Given the description of an element on the screen output the (x, y) to click on. 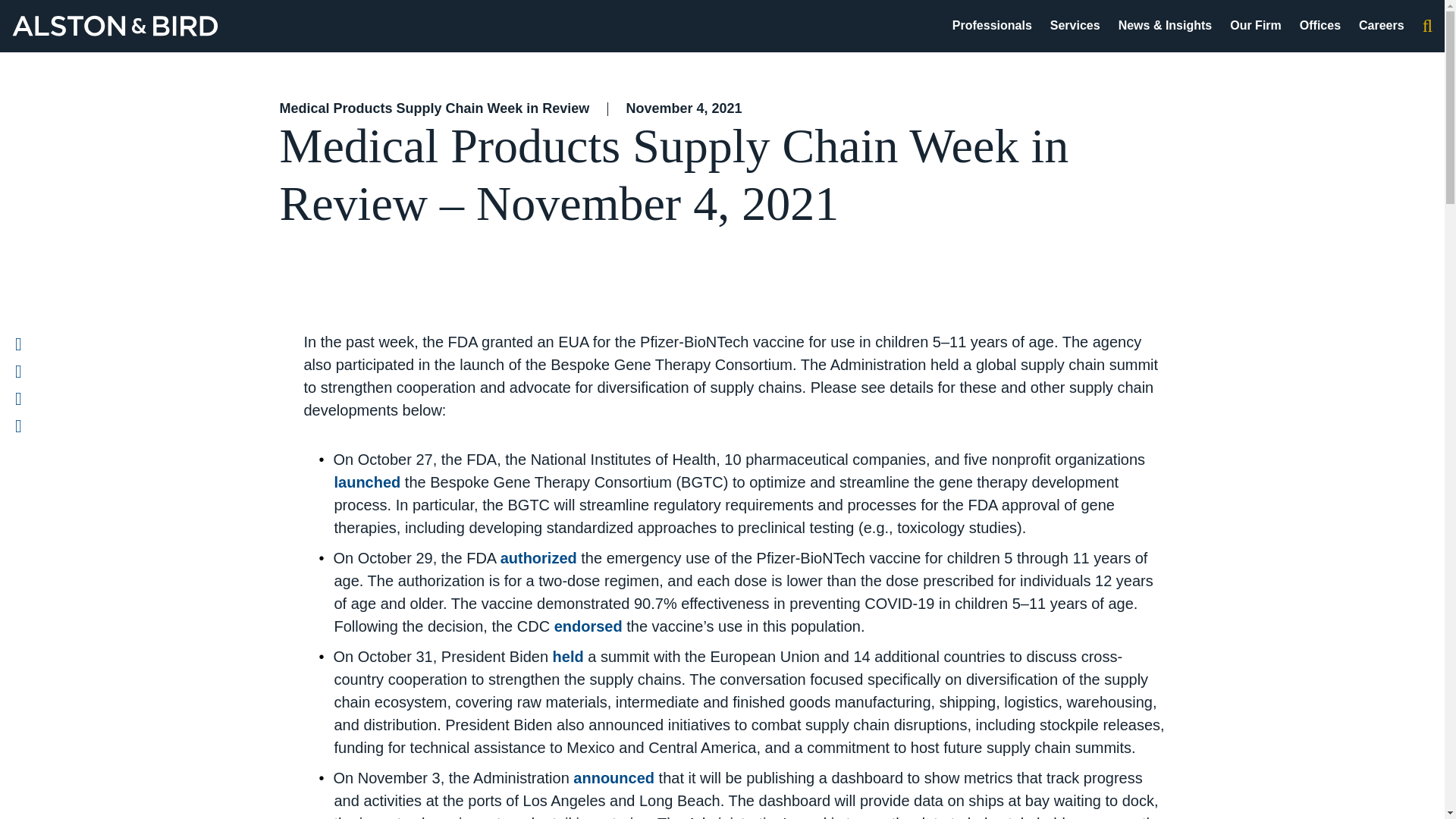
announced (613, 777)
held (568, 656)
launched (366, 482)
endorsed (588, 626)
authorized (538, 557)
Services (1074, 24)
Professionals (992, 24)
Careers (1381, 24)
Our Firm (1255, 24)
Offices (1320, 24)
